Given the description of an element on the screen output the (x, y) to click on. 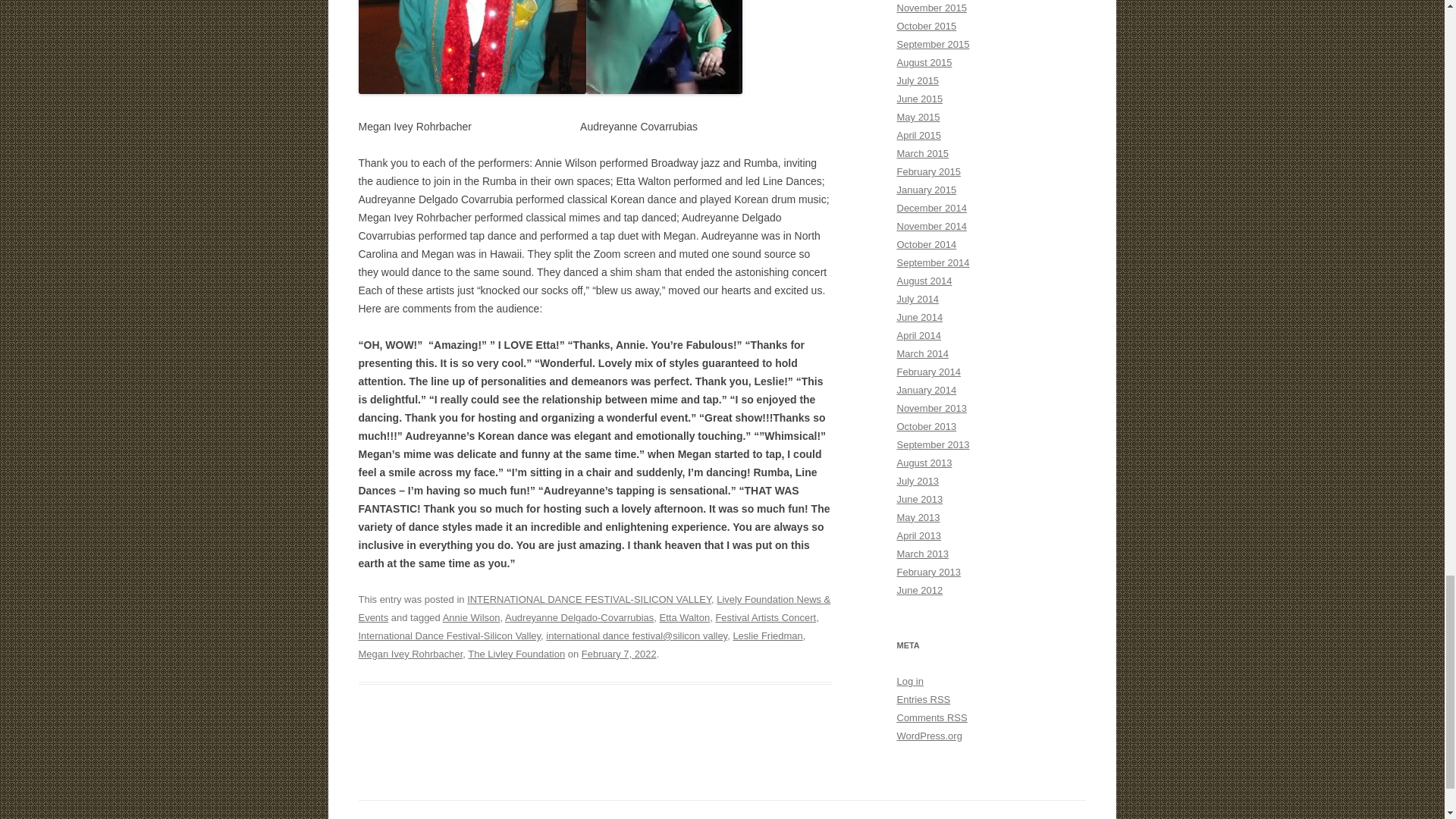
Really Simple Syndication (957, 717)
Really Simple Syndication (940, 699)
Annie Wilson (471, 617)
February 7, 2022 (618, 654)
Festival Artists Concert (764, 617)
INTERNATIONAL DANCE FESTIVAL-SILICON VALLEY (589, 599)
The Livley Foundation (515, 654)
International Dance Festival-Silicon Valley (449, 635)
Etta Walton (684, 617)
